Given the description of an element on the screen output the (x, y) to click on. 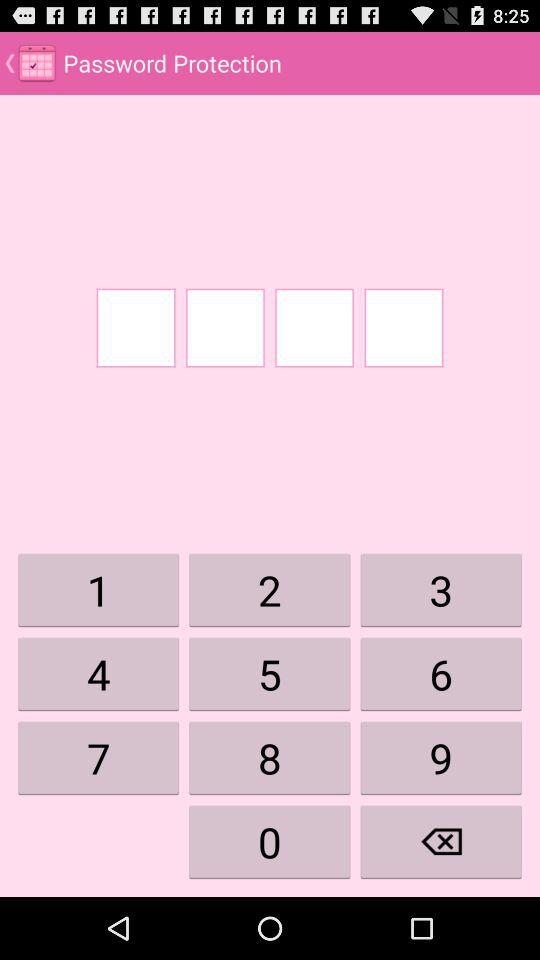
click 2 (269, 589)
click on 8 (269, 757)
click on the digit 5 (269, 673)
click on the digit 3 (441, 589)
go to last option in last row (441, 841)
select the text which is immediately below 8 (269, 841)
